Given the description of an element on the screen output the (x, y) to click on. 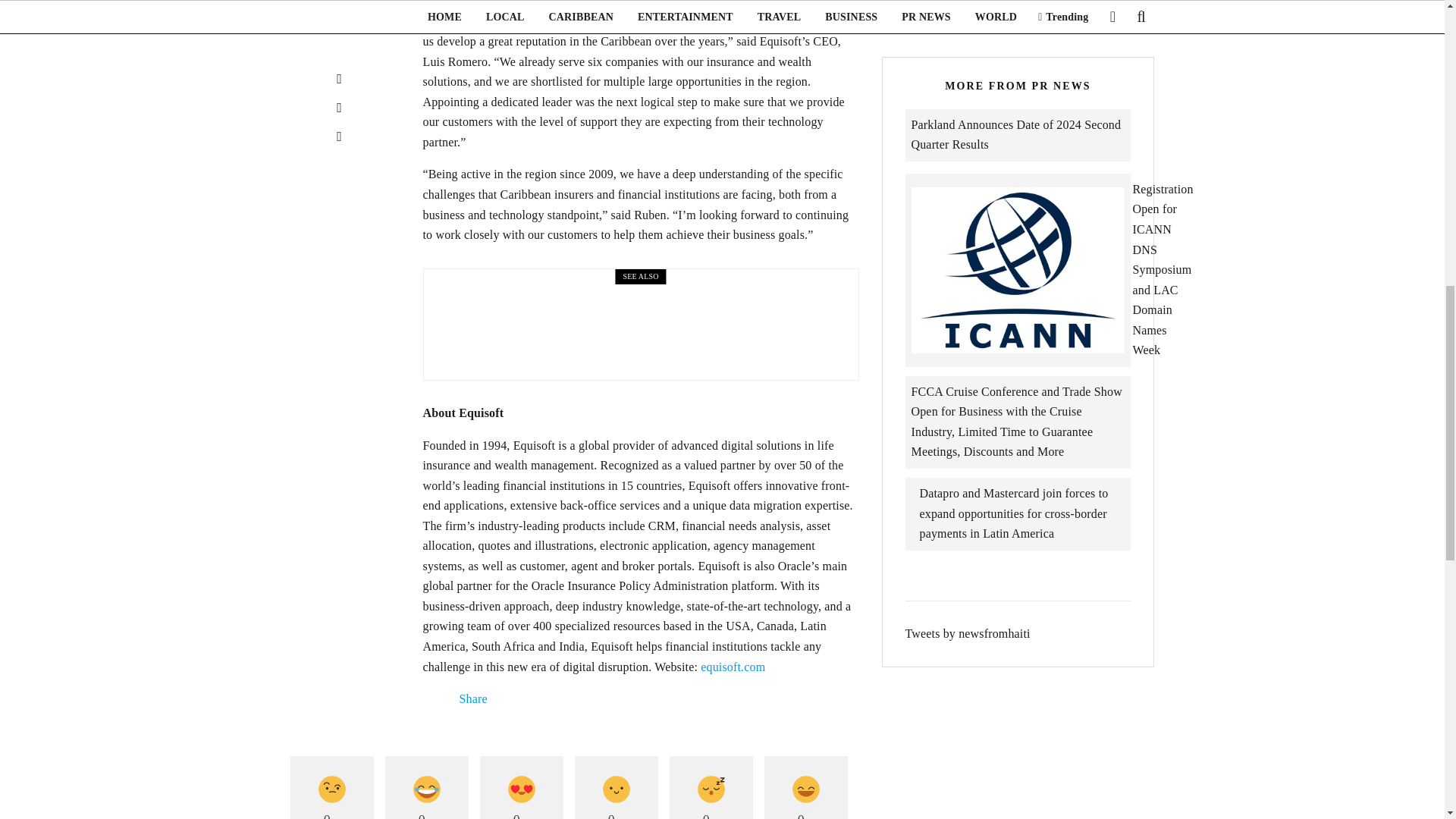
Twitter (440, 698)
Facebook (429, 698)
